Given the description of an element on the screen output the (x, y) to click on. 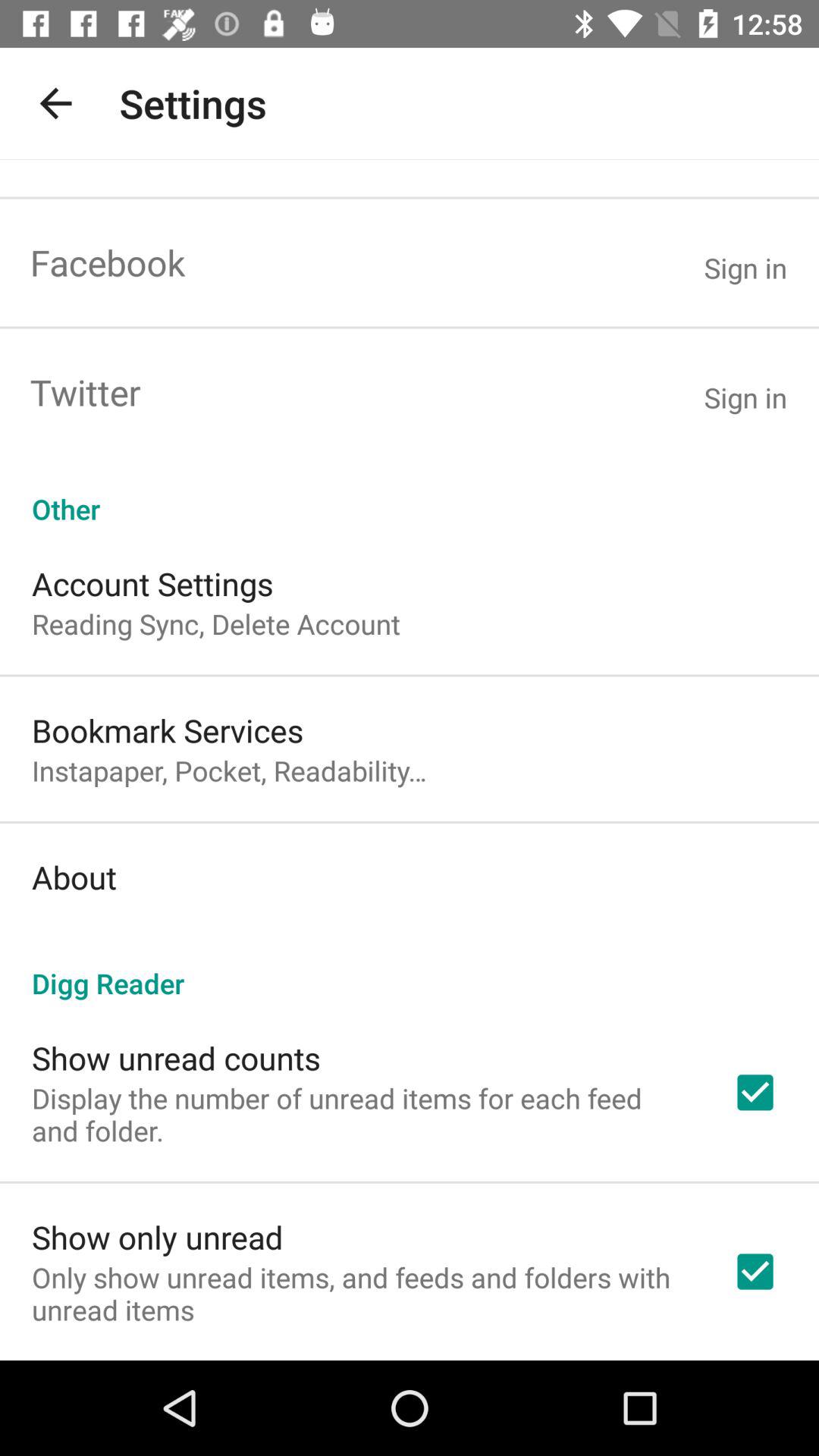
press the app above the digg reader icon (73, 876)
